Given the description of an element on the screen output the (x, y) to click on. 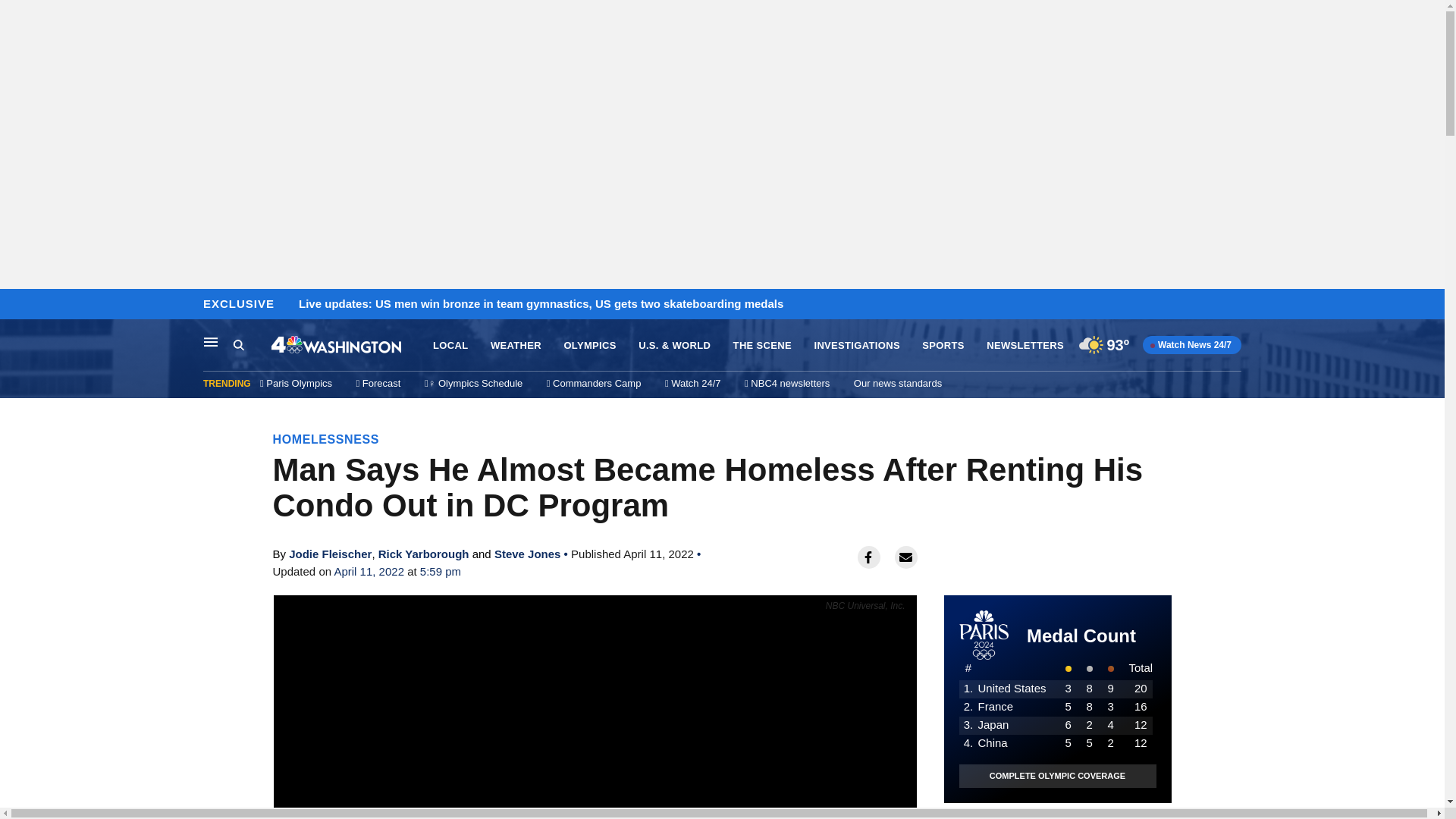
OLYMPICS (589, 345)
NEWSLETTERS (1025, 345)
THE SCENE (762, 345)
Our news standards (897, 383)
Search (238, 344)
Steve Jones (527, 553)
Search (252, 345)
Main Navigation (210, 341)
Rick Yarborough (423, 553)
WEATHER (515, 345)
LOCAL (449, 345)
Jodie Fleischer (329, 553)
Skip to content (16, 304)
SPORTS (942, 345)
